Given the description of an element on the screen output the (x, y) to click on. 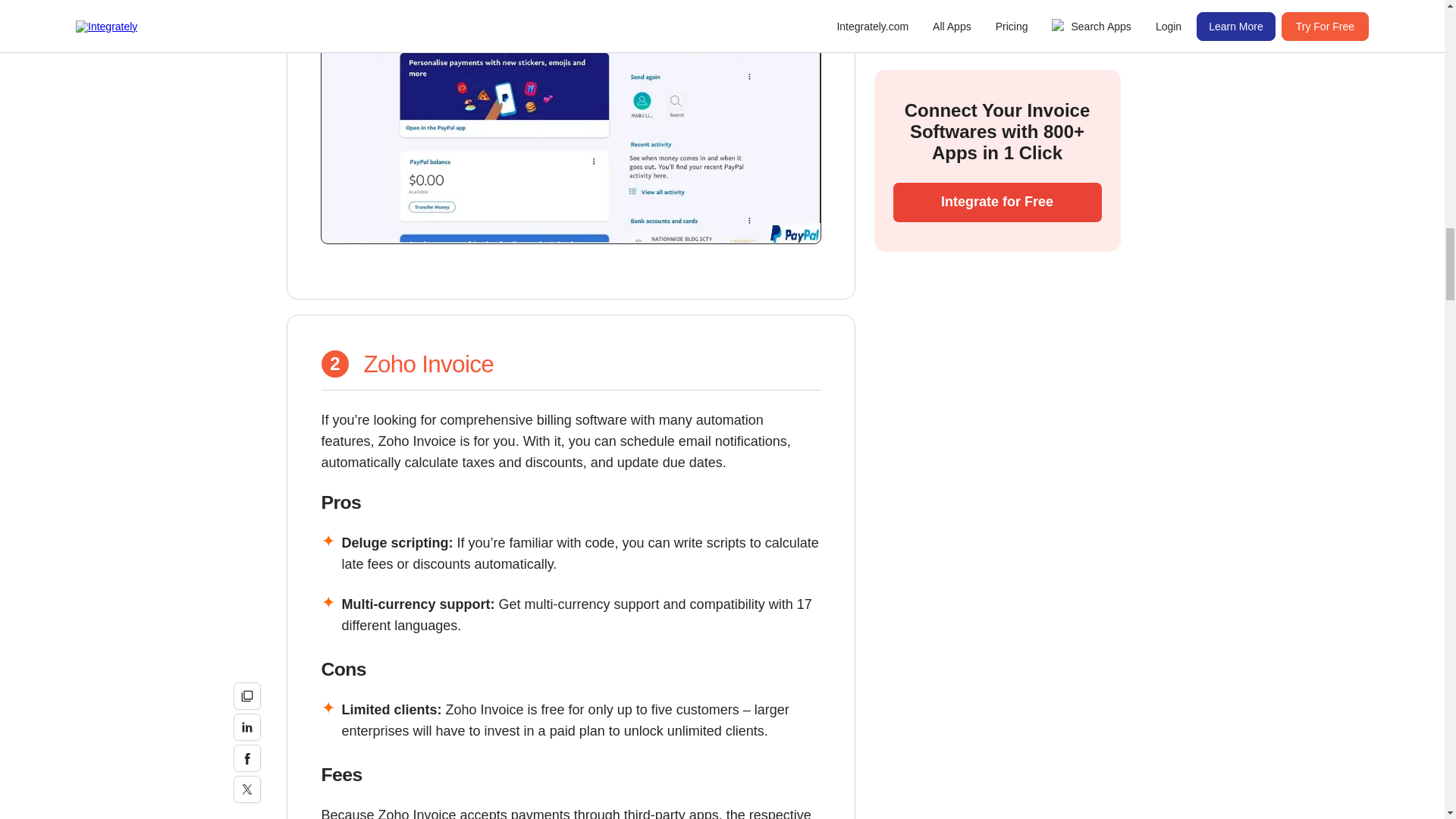
Zoho Invoice (428, 363)
